Given the description of an element on the screen output the (x, y) to click on. 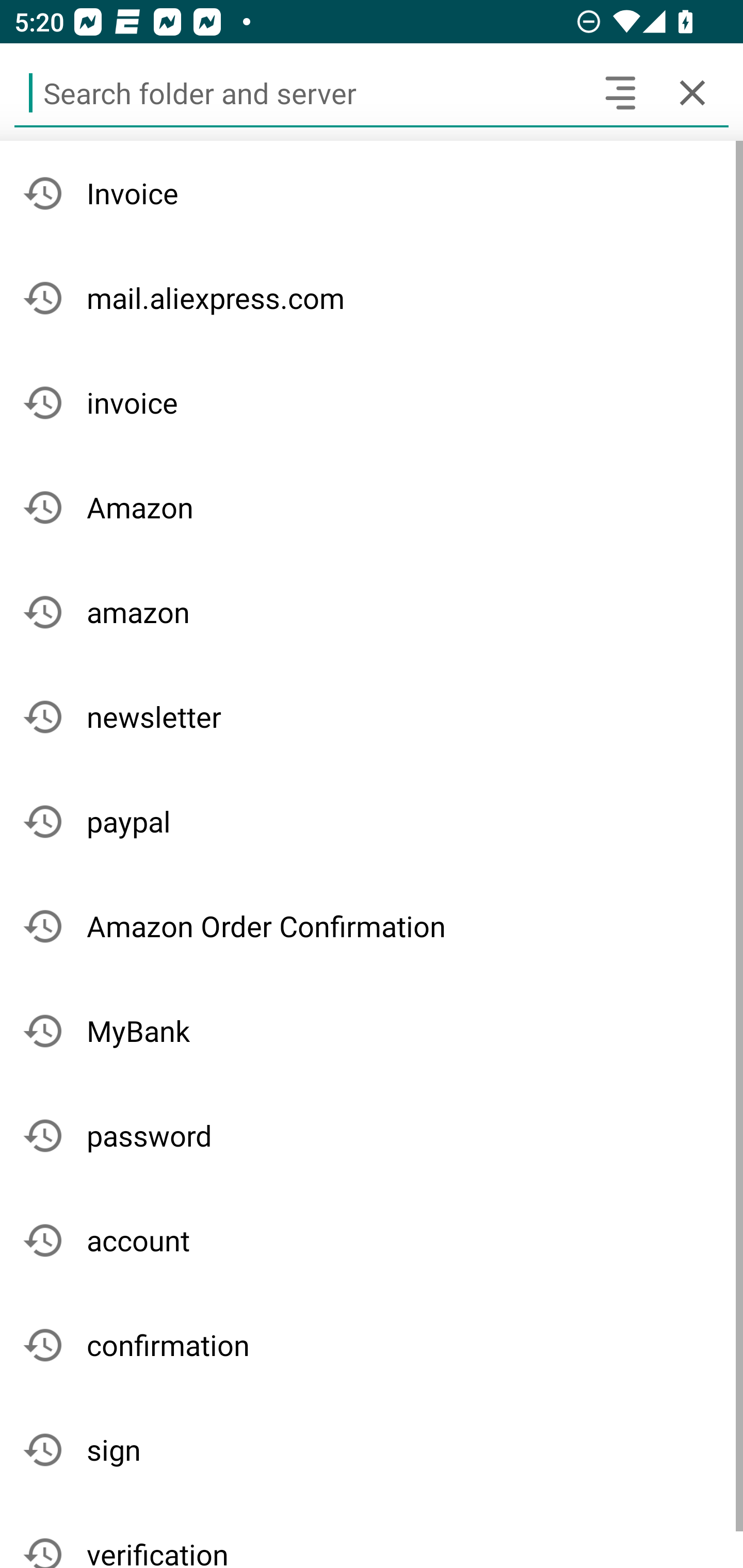
   Search folder and server (298, 92)
Search headers and text (619, 92)
Cancel (692, 92)
